Given the description of an element on the screen output the (x, y) to click on. 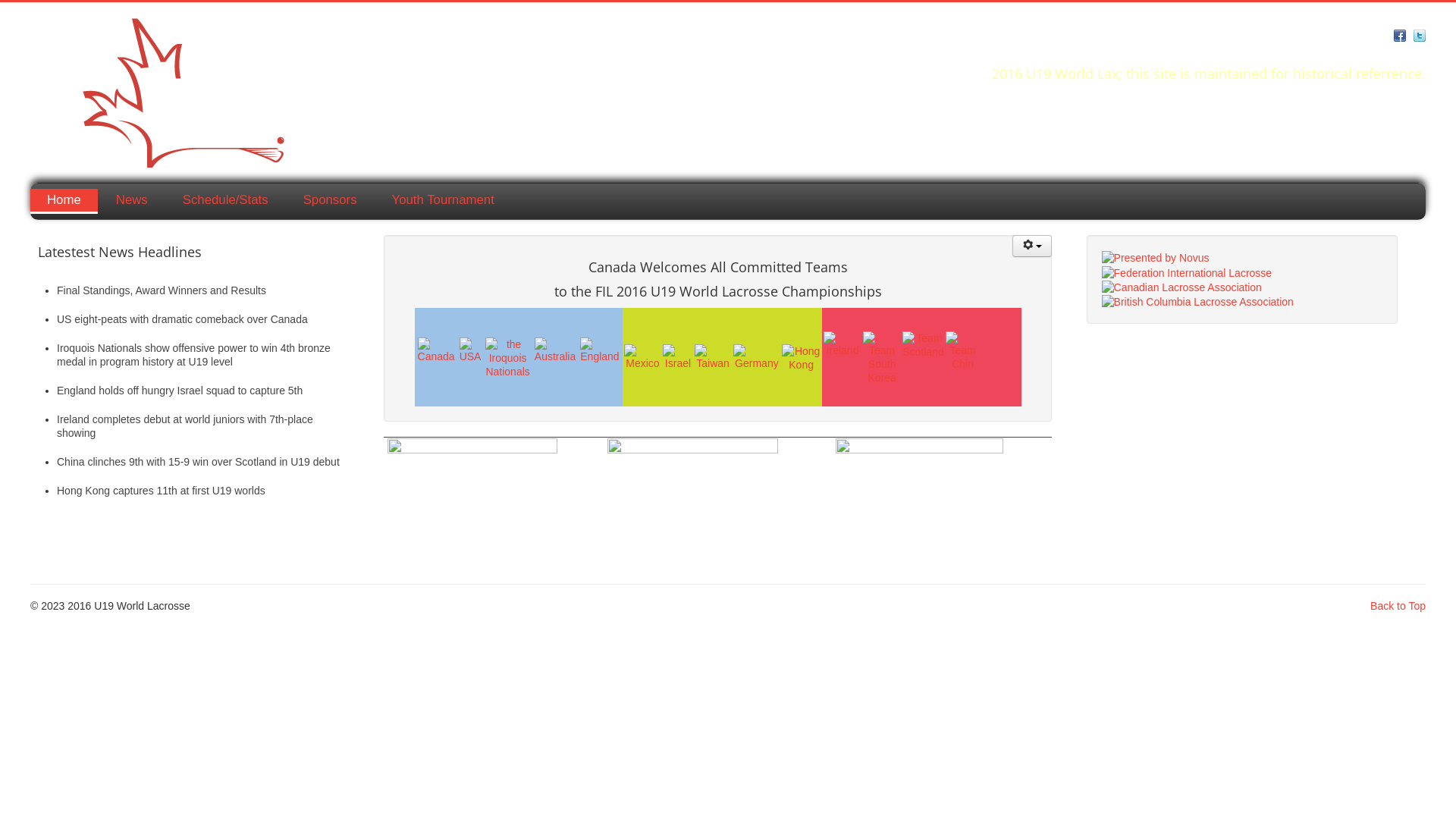
Team Canada Element type: hover (436, 350)
Korea Element type: hover (881, 357)
Canada Element type: hover (436, 349)
Final Standings, Award Winners and Results Element type: text (161, 290)
England holds off hungry Israel squad to capture 5th Element type: text (179, 390)
Israel Element type: hover (677, 356)
USA Element type: hover (470, 349)
Back to Top Element type: text (1397, 605)
Facebook Element type: hover (1399, 34)
China Element type: hover (962, 350)
England Element type: hover (599, 349)
Ireland Element type: hover (842, 343)
US eight-peats with dramatic comeback over Canada Element type: text (181, 319)
Hong Kong Element type: hover (800, 357)
Australia Element type: hover (554, 349)
Team Israel Element type: hover (677, 357)
Team Hong Kong Element type: hover (800, 357)
Team Germany Element type: hover (756, 357)
Team Taiwan Element type: hover (712, 357)
Germany Element type: hover (756, 356)
Hong Kong captures 11th at first U19 worlds Element type: text (160, 490)
Team South Korea Element type: hover (881, 357)
Scotland Element type: hover (922, 344)
Team Ireland Element type: hover (842, 344)
Twitter Element type: hover (1419, 34)
Team England Element type: hover (599, 350)
the Iroquois Nationals Element type: hover (507, 357)
China clinches 9th with 15-9 win over Scotland in U19 debut Element type: text (197, 461)
Youth Tournament Element type: text (443, 199)
Taiwan Element type: hover (712, 356)
Novus Element type: hover (1155, 257)
Home Element type: text (63, 200)
Mexico Element type: hover (643, 356)
Team Scotland Element type: hover (922, 344)
Iroquois Nationals Element type: hover (507, 357)
Schedule/Stats Element type: text (225, 199)
Team Australia Element type: hover (554, 350)
Team USA Element type: hover (470, 350)
FIL Element type: hover (1186, 271)
BCLA Element type: hover (1197, 300)
News Element type: text (131, 199)
Sponsors Element type: text (329, 199)
CLA Element type: hover (1181, 286)
Team Mexico Element type: hover (643, 357)
Team China Element type: hover (962, 350)
